Given the description of an element on the screen output the (x, y) to click on. 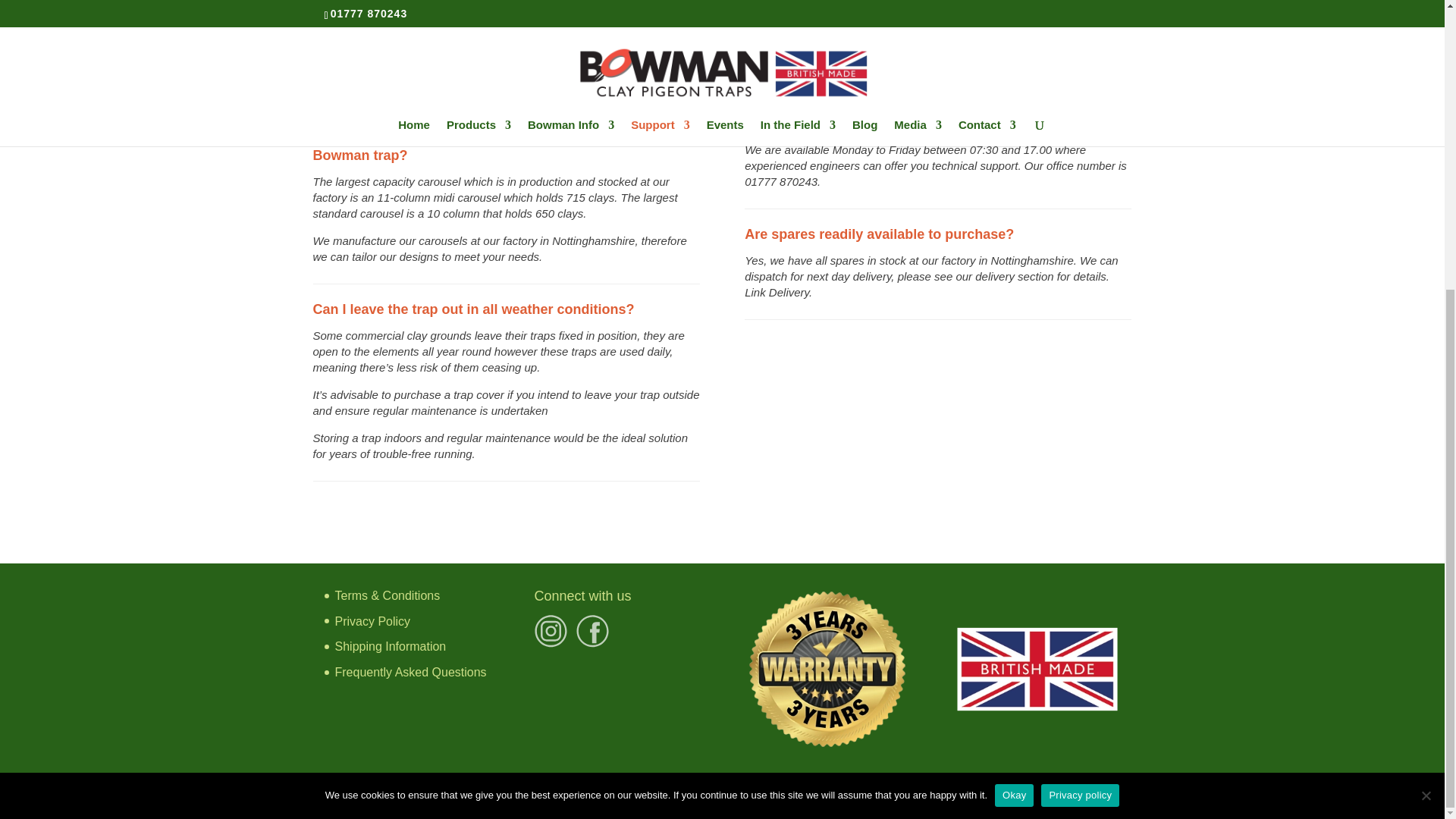
No (1425, 354)
